Given the description of an element on the screen output the (x, y) to click on. 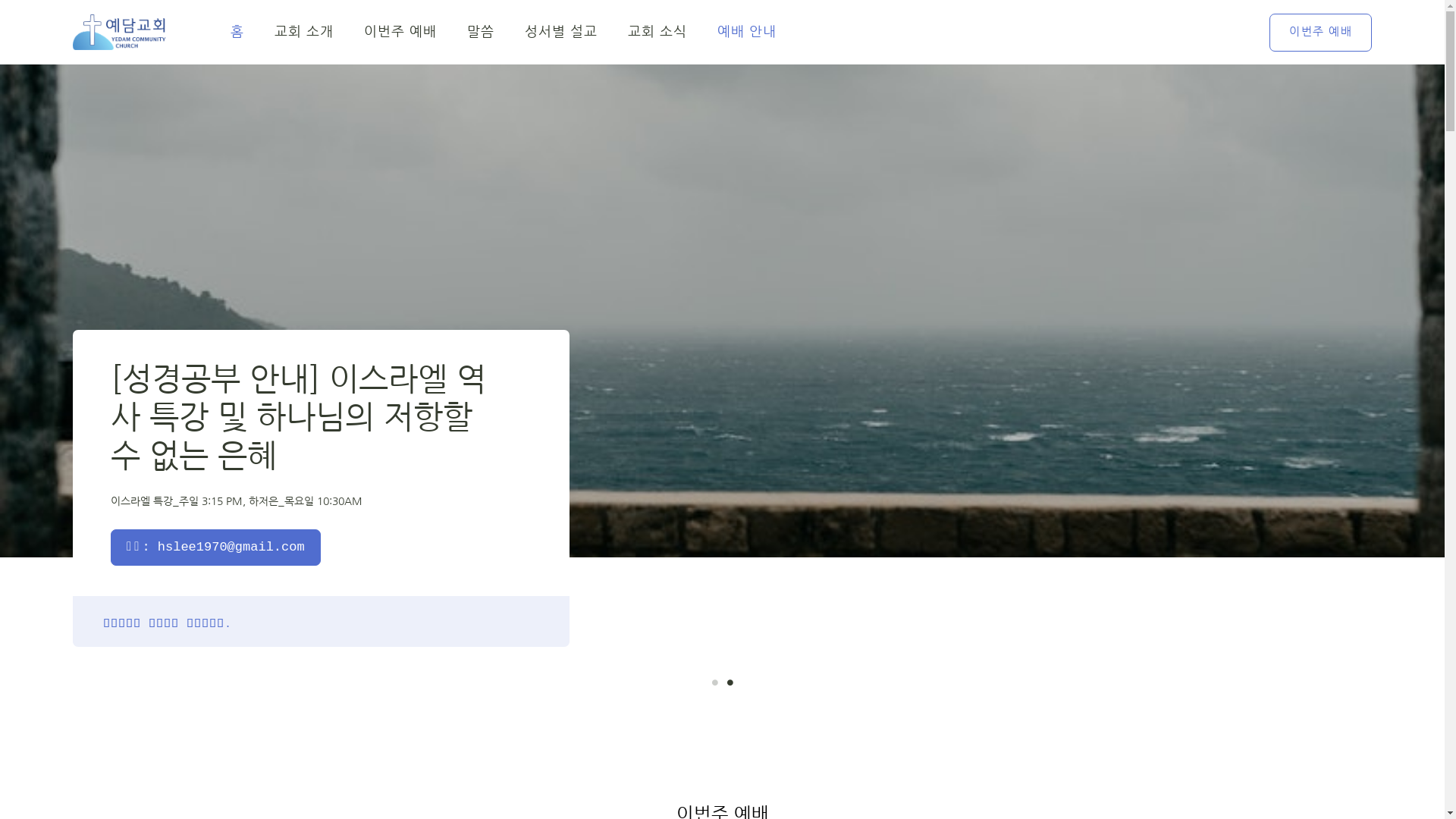
2 Element type: text (729, 682)
yedam_logo_primary Element type: hover (119, 31)
1 Element type: text (713, 682)
